Given the description of an element on the screen output the (x, y) to click on. 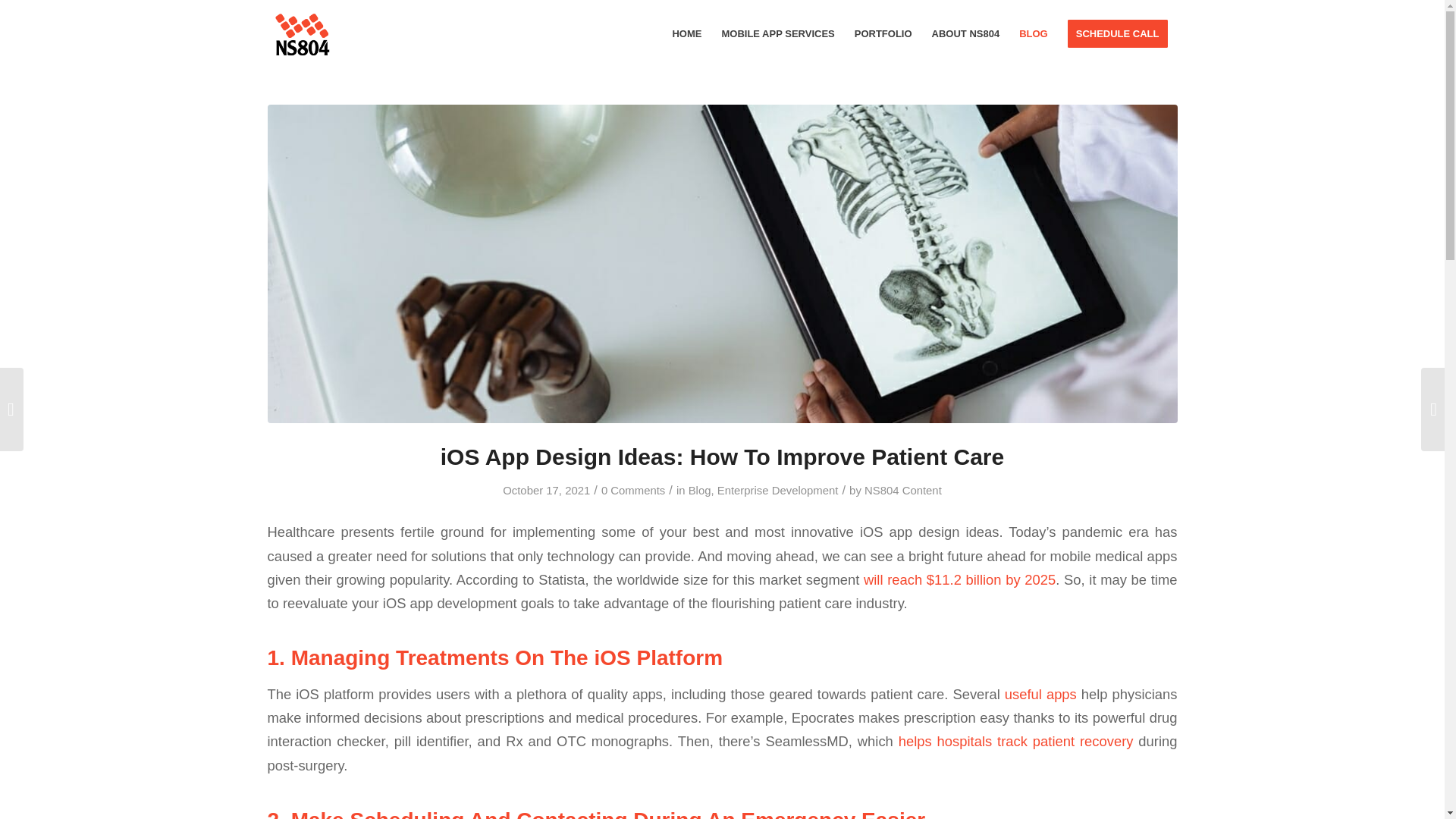
ABOUT NS804 (965, 33)
Blog (699, 490)
ns804logo-nav (300, 33)
PORTFOLIO (882, 33)
Posts by NS804 Content (903, 490)
SCHEDULE CALL (1117, 33)
useful apps (1040, 693)
NS804 Content (903, 490)
Enterprise Development (777, 490)
helps hospitals track patient recovery (1016, 741)
MOBILE APP SERVICES (777, 33)
0 Comments (633, 490)
